Given the description of an element on the screen output the (x, y) to click on. 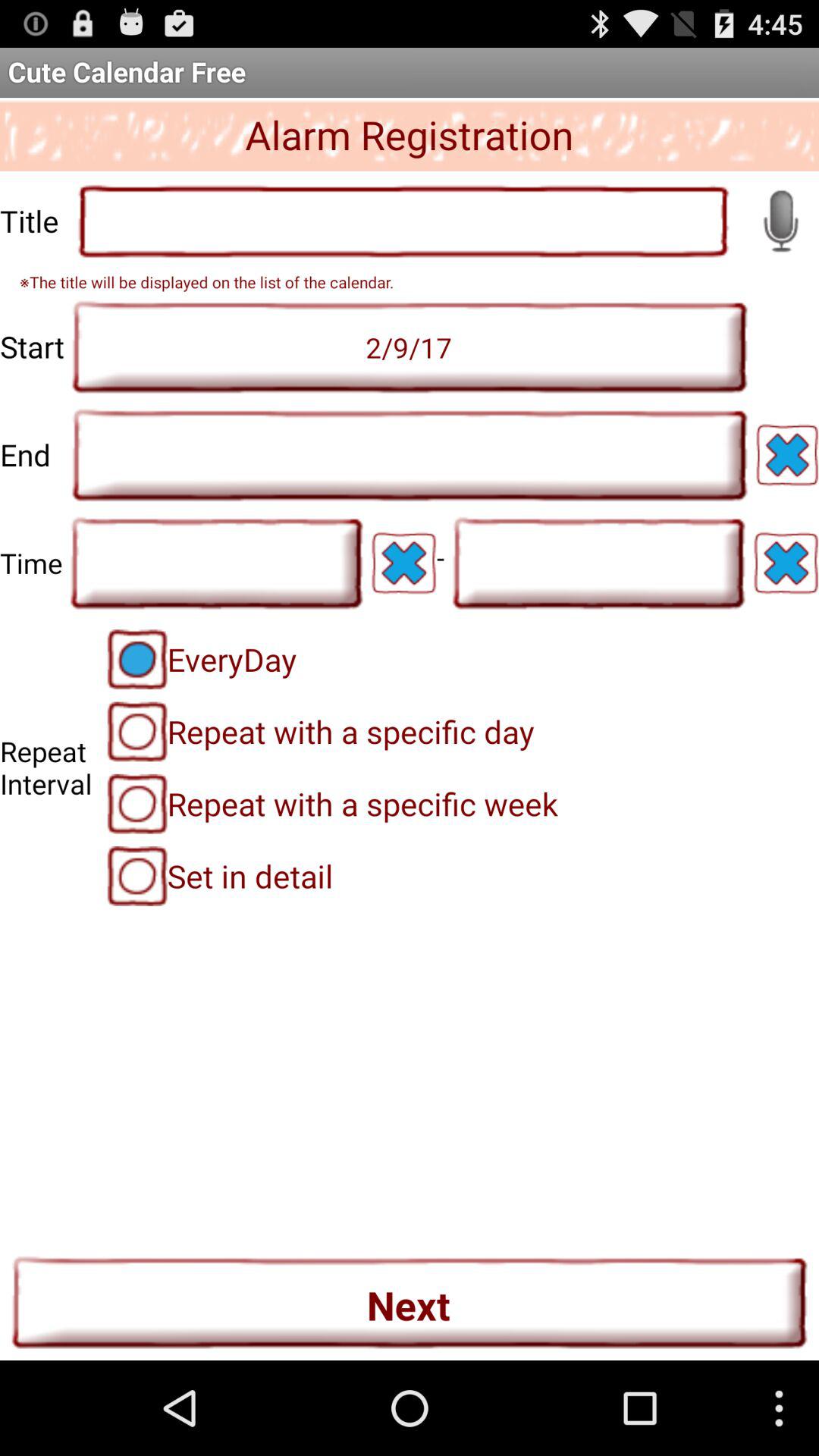
click on the second time field (598, 563)
